Given the description of an element on the screen output the (x, y) to click on. 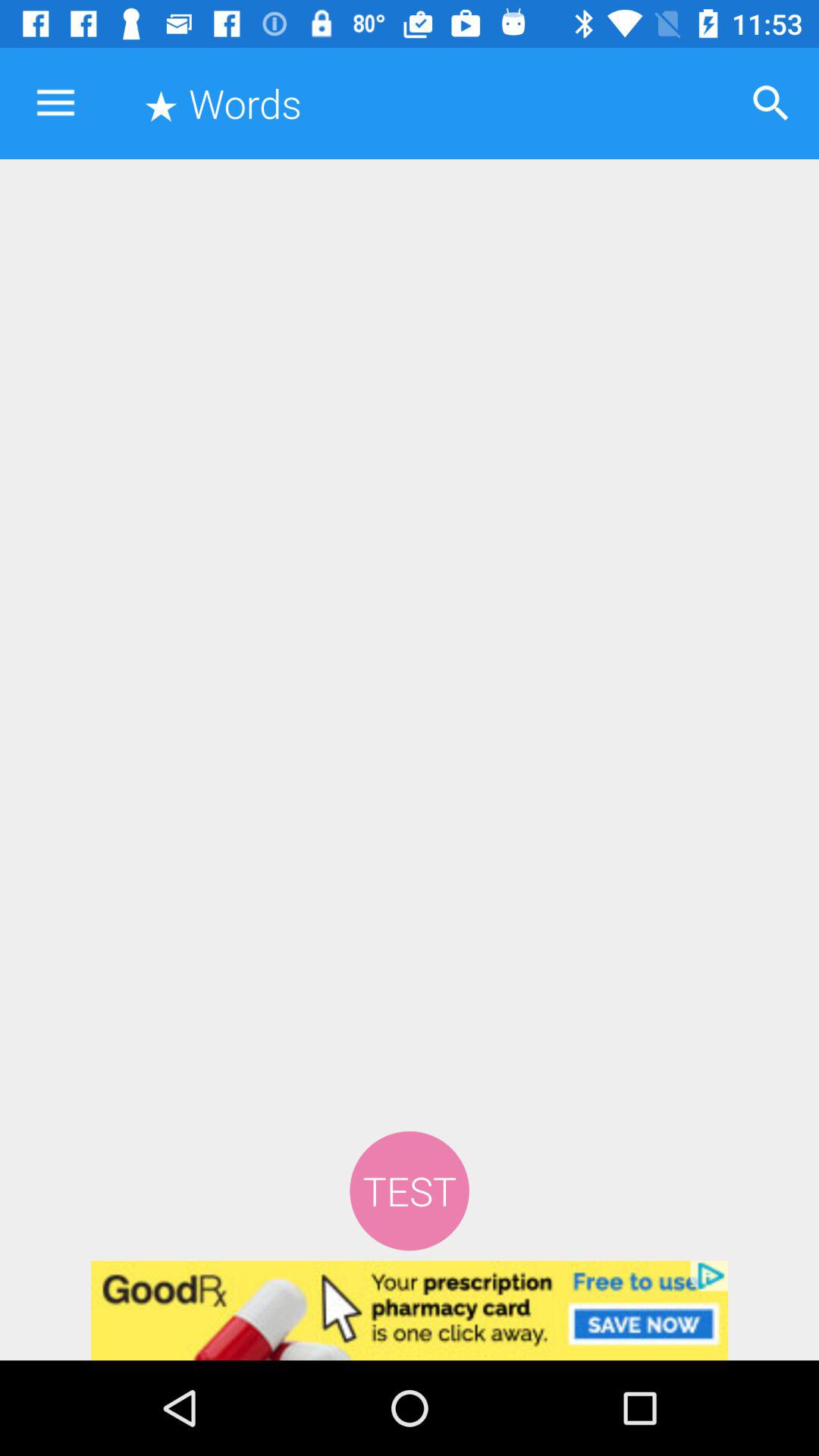
clicks the advertisement (409, 1310)
